Given the description of an element on the screen output the (x, y) to click on. 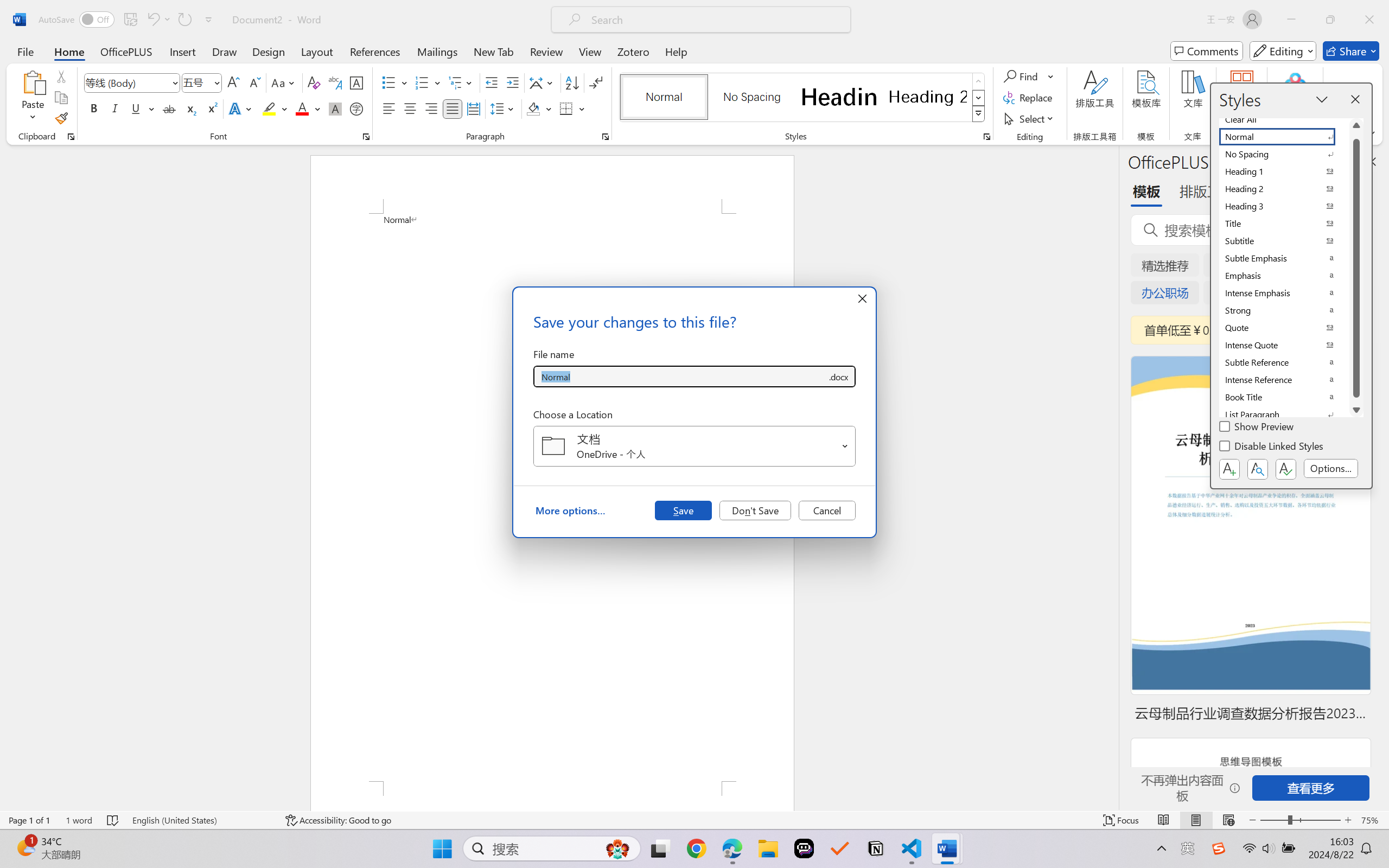
Italic (115, 108)
Intense Quote (1283, 345)
Emphasis (1283, 275)
Layout (316, 51)
Save as type (837, 376)
Subtle Reference (1283, 362)
Row Down (978, 97)
Title (1283, 223)
Decrease Indent (491, 82)
Line and Paragraph Spacing (503, 108)
Asian Layout (542, 82)
